Given the description of an element on the screen output the (x, y) to click on. 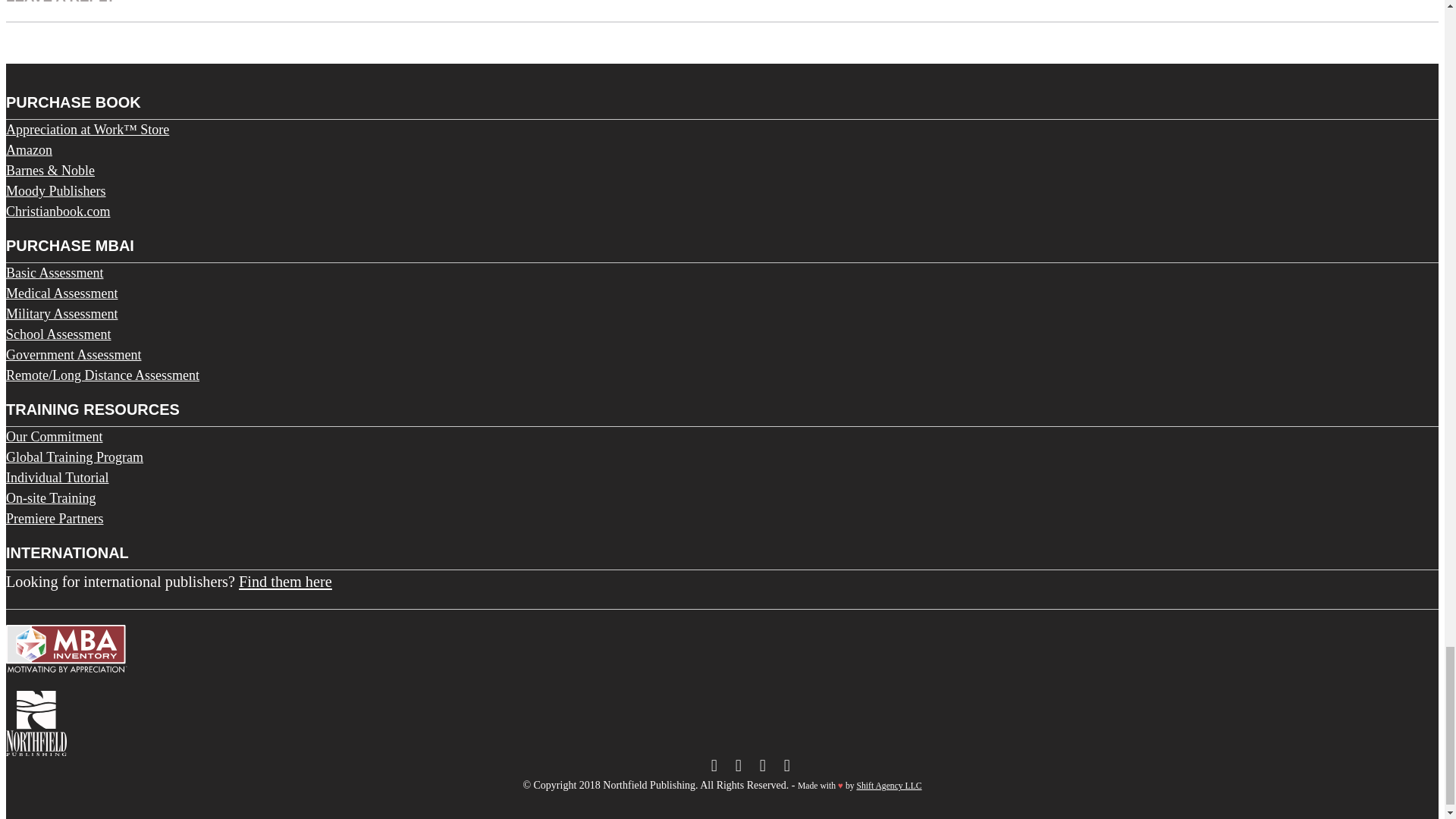
Amazon (28, 150)
Moody Publishers (55, 191)
Basic Assessment (54, 272)
Military Assessment (61, 313)
Christianbook.com (57, 211)
School Assessment (58, 334)
Medical Assessment (61, 293)
